Given the description of an element on the screen output the (x, y) to click on. 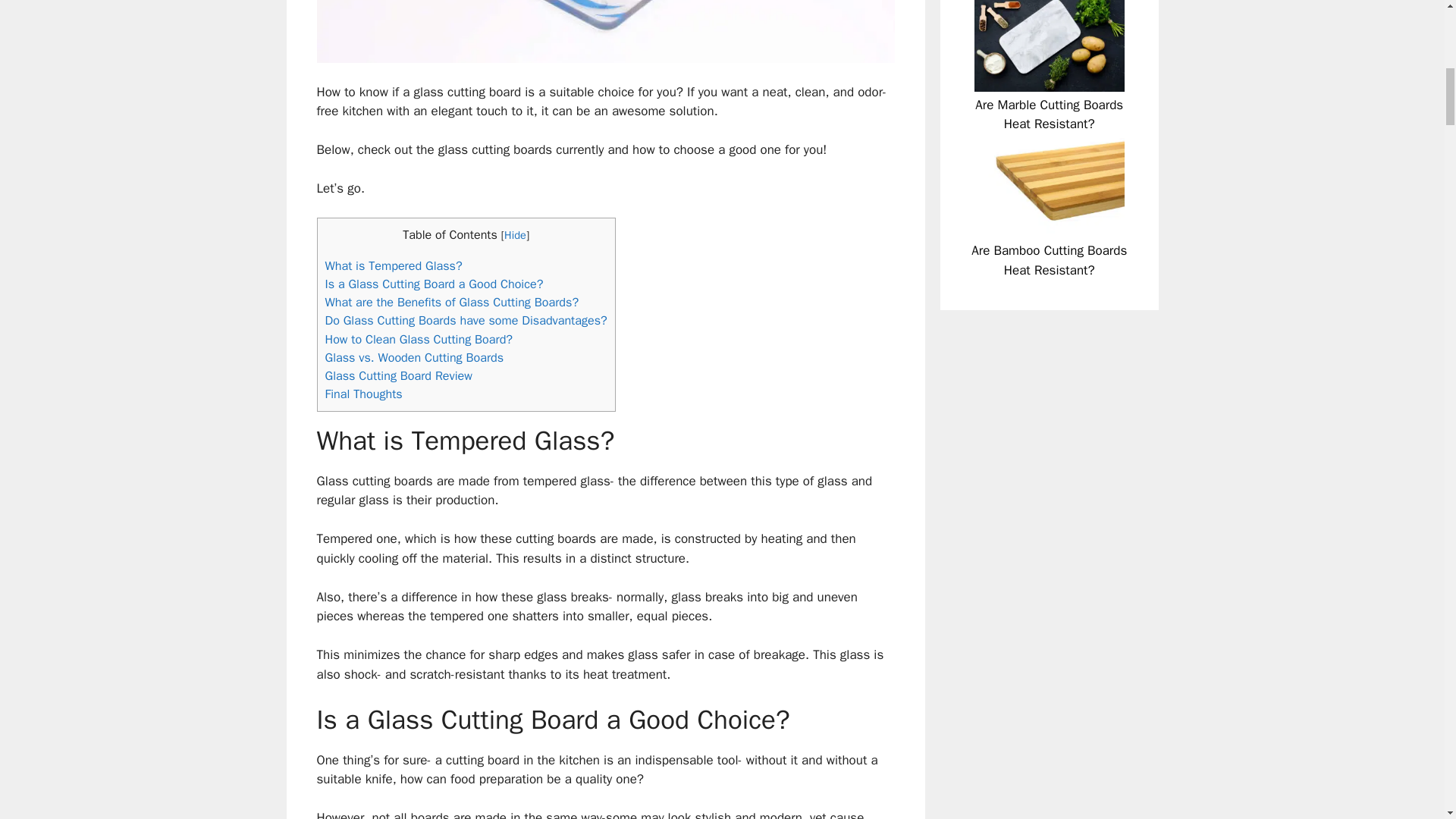
How to Clean Glass Cutting Board? (418, 339)
Glass vs. Wooden Cutting Boards (413, 357)
What are the Benefits of Glass Cutting Boards? (451, 302)
Scroll back to top (1406, 720)
Is a Glass Cutting Board a Good Choice? (433, 283)
Final Thoughts (362, 393)
What is Tempered Glass? (392, 265)
Do Glass Cutting Boards have some Disadvantages? (465, 320)
Hide (514, 234)
Glass Cutting Board Review (397, 375)
